Given the description of an element on the screen output the (x, y) to click on. 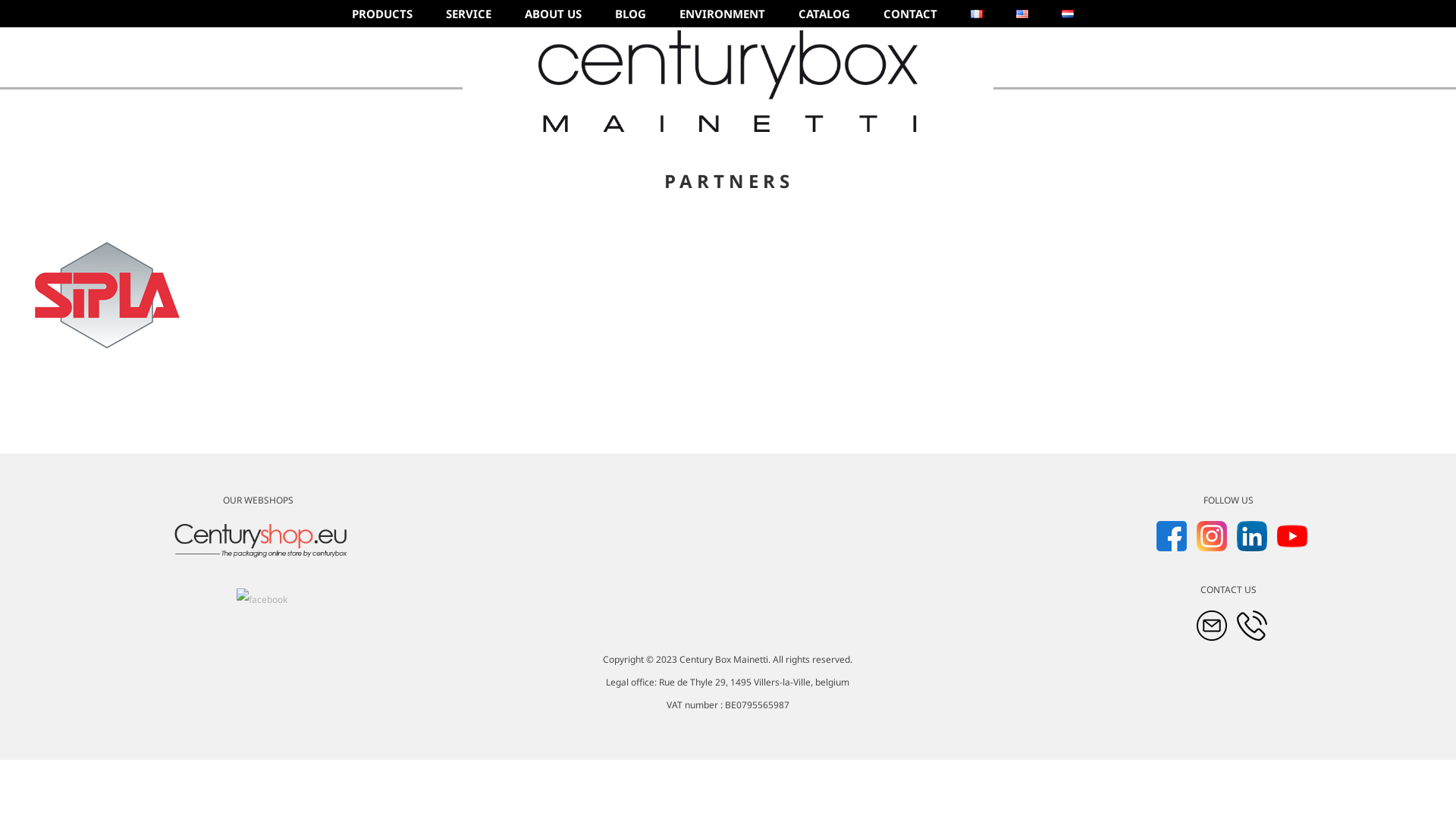
SIPLA Element type: hover (106, 294)
ENVIRONMENT Element type: text (722, 13)
CONTACT Element type: text (910, 13)
ABOUT US Element type: text (552, 13)
CATALOG Element type: text (824, 13)
BLOG Element type: text (630, 13)
PRODUCTS Element type: text (381, 13)
SERVICE Element type: text (468, 13)
